Given the description of an element on the screen output the (x, y) to click on. 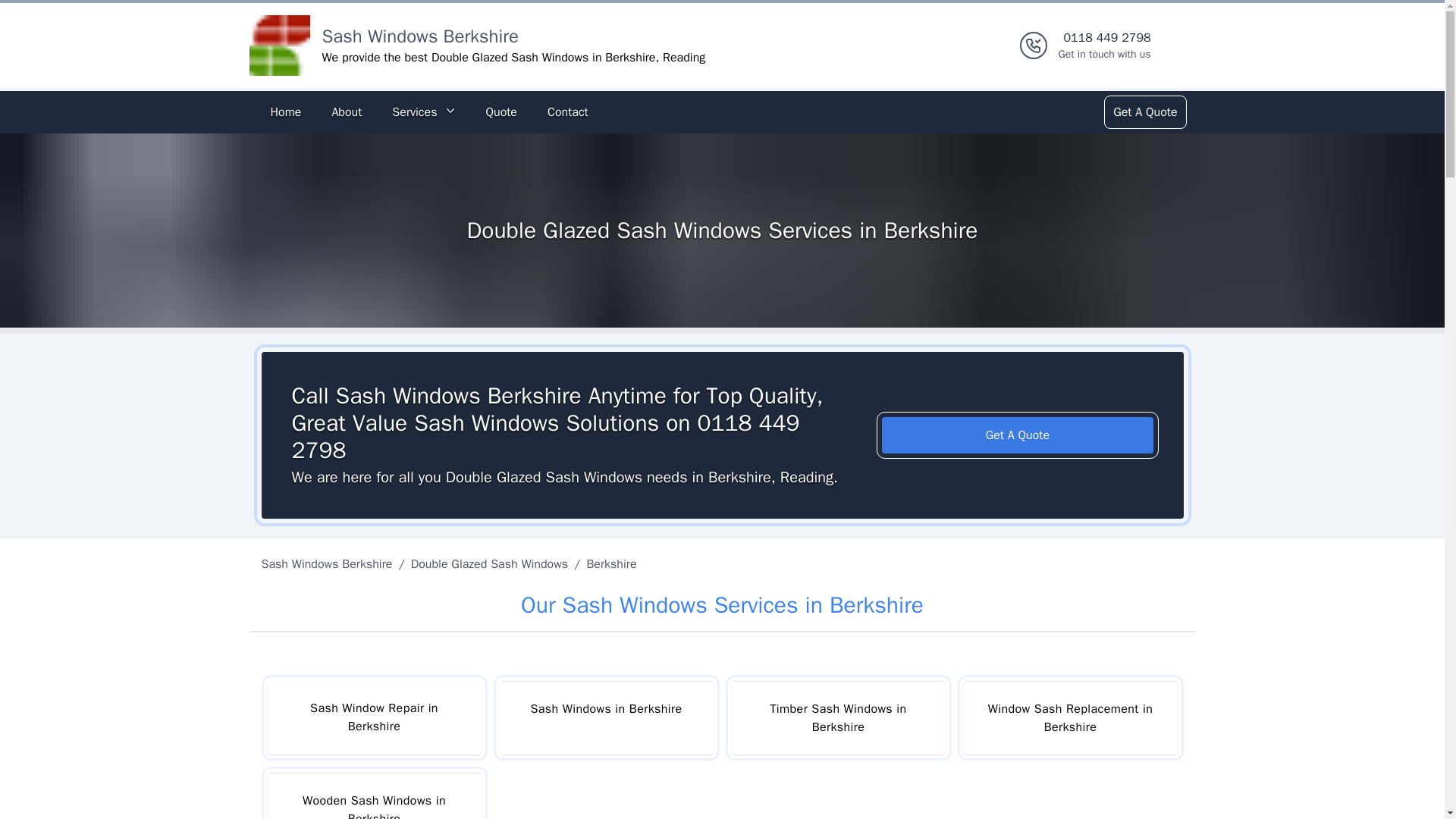
Sash Windows Berkshire (419, 36)
Get A Quote (1144, 112)
Logo (278, 45)
Quote (500, 112)
Contact (567, 112)
Wooden Sash Windows in Berkshire (373, 796)
Home (285, 112)
Sash Windows in Berkshire (606, 717)
About (346, 112)
Double Glazed Sash Windows (488, 564)
Services (423, 112)
Sash Windows Berkshire (328, 564)
Get A Quote (1017, 434)
Sash Window Repair in Berkshire (1104, 45)
